Given the description of an element on the screen output the (x, y) to click on. 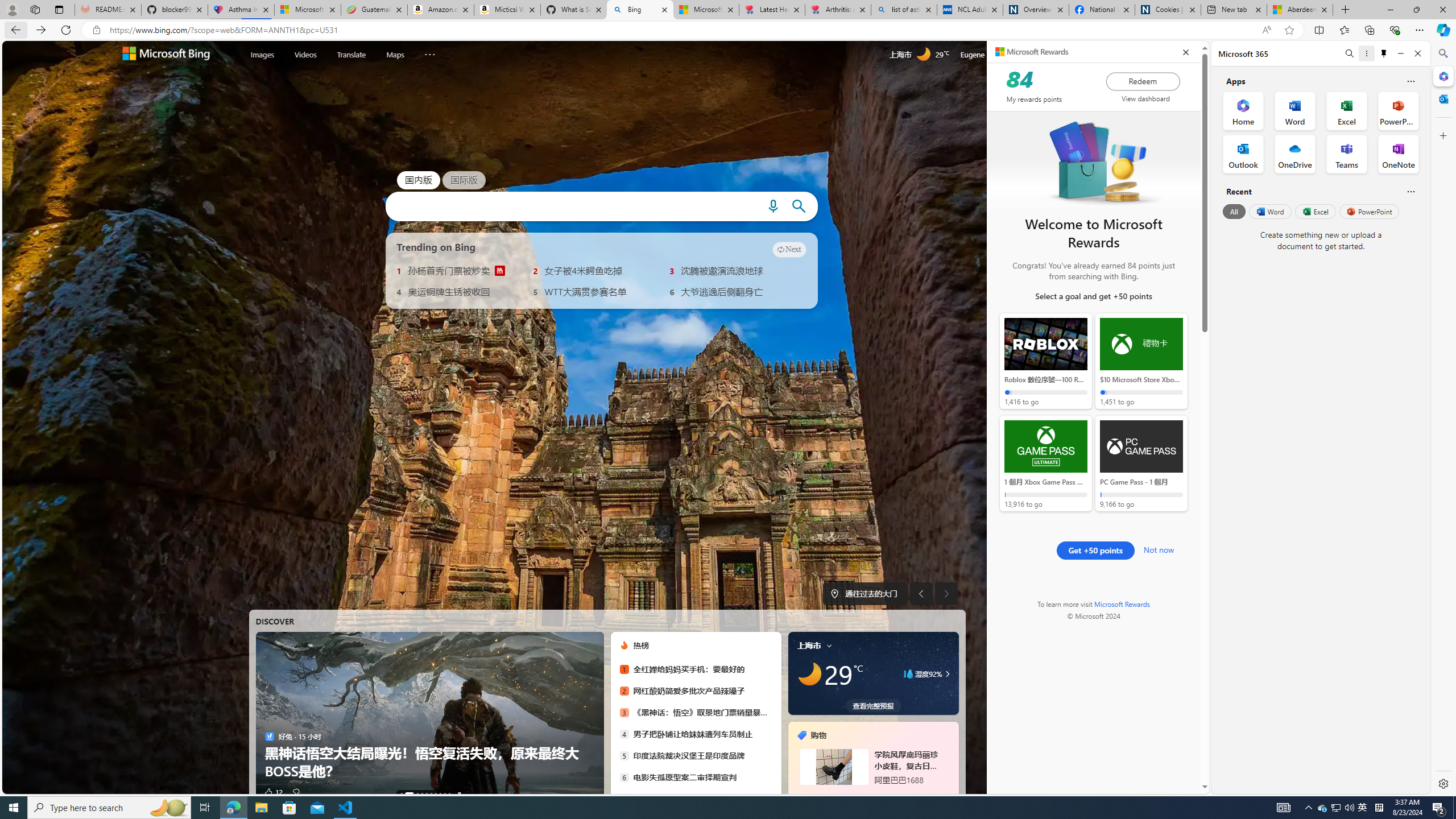
Settings and quick links (1065, 54)
tab-5 (872, 795)
Trending on Bing (436, 246)
Next image (946, 593)
AutomationID: rh_meter (1037, 54)
Is this helpful? (1410, 191)
Class: icon-img (828, 645)
AutomationID: tab-3 (421, 793)
Maps (394, 54)
